Given the description of an element on the screen output the (x, y) to click on. 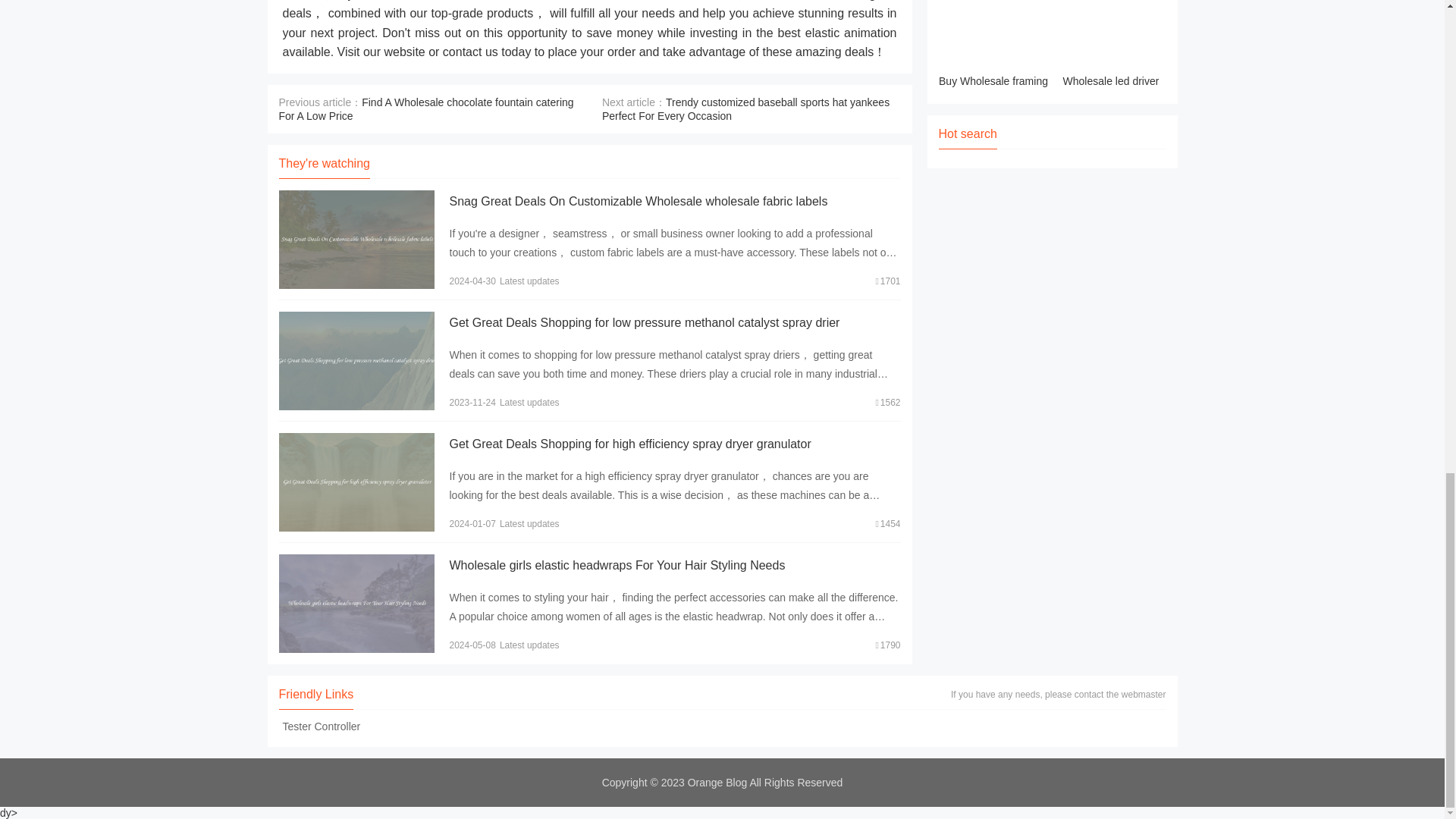
Find A Wholesale chocolate fountain catering For A Low Price (426, 109)
Tester Controller (322, 726)
Wholesale led driver test To Test Electronic Equipment (1110, 46)
